Given the description of an element on the screen output the (x, y) to click on. 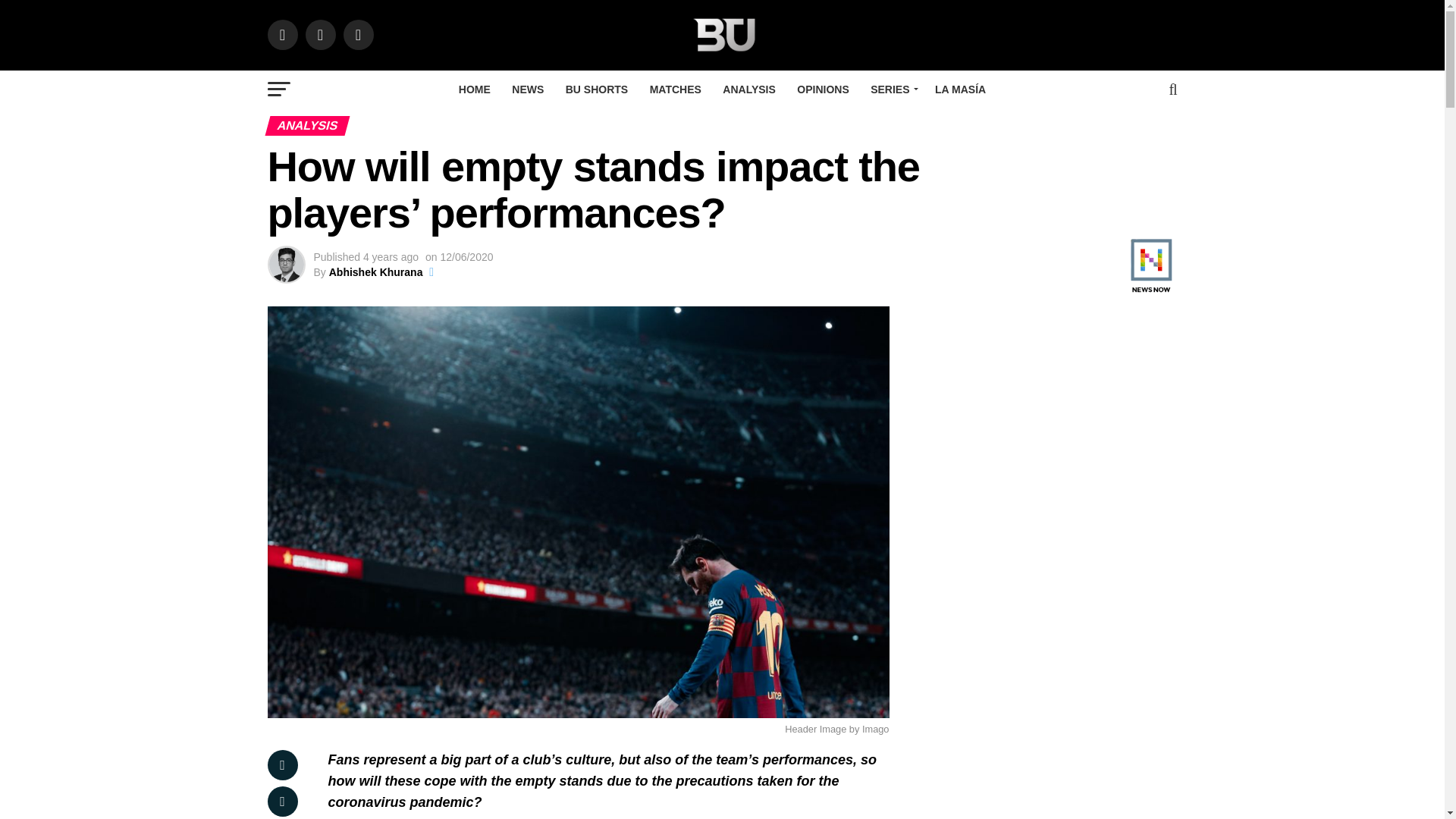
BU SHORTS (596, 89)
Posts by Abhishek Khurana (376, 272)
NEWS (527, 89)
HOME (474, 89)
